Given the description of an element on the screen output the (x, y) to click on. 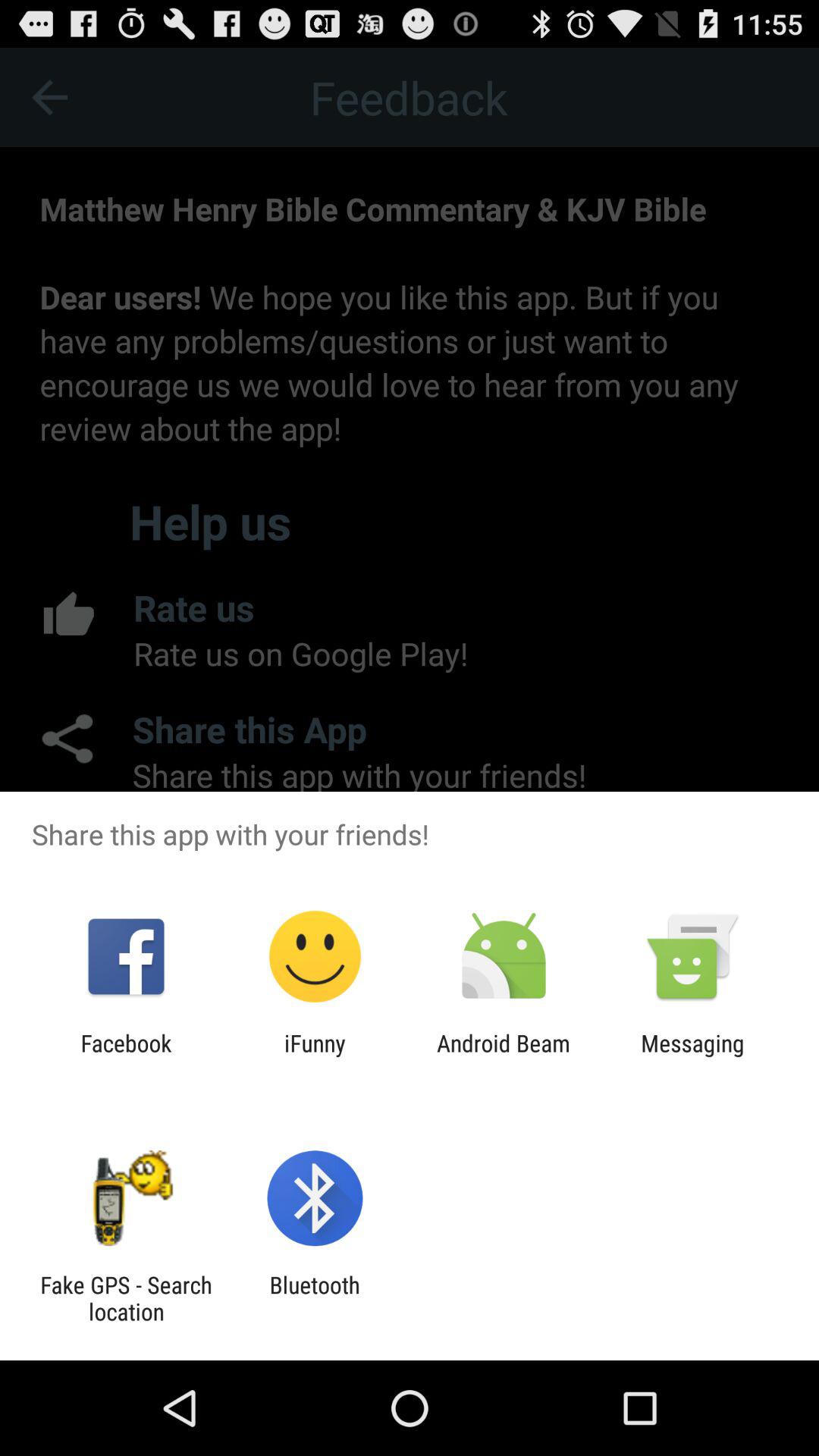
turn on the android beam item (503, 1056)
